Given the description of an element on the screen output the (x, y) to click on. 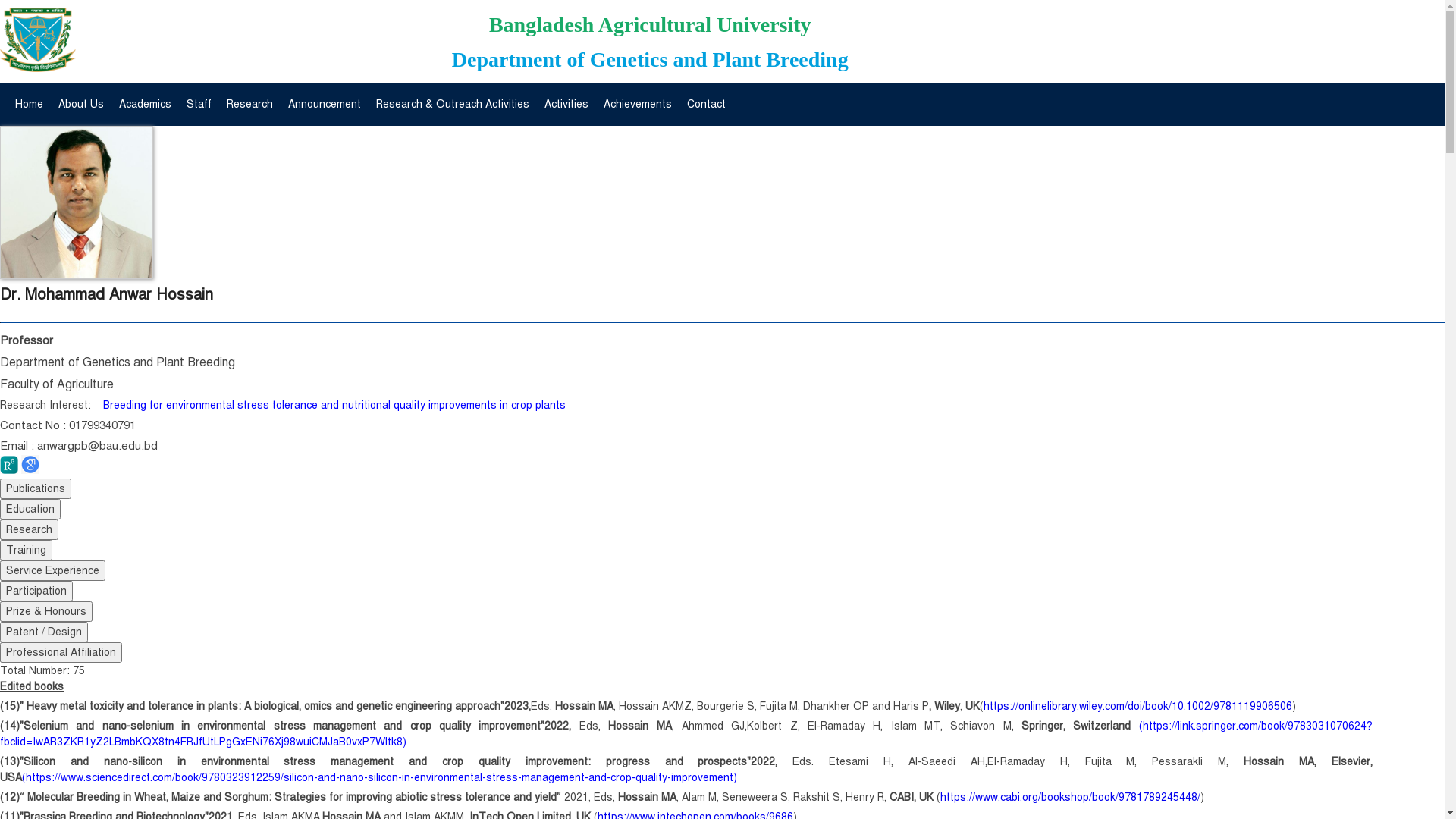
Publications Element type: text (35, 488)
Bangladesh Agricultural University Element type: text (649, 24)
Professional Affiliation Element type: text (61, 652)
https://www.cabi.org/bookshop/book/9781789245448/ Element type: text (1070, 796)
Research Element type: text (29, 529)
Staff Element type: text (198, 103)
Announcement Element type: text (324, 103)
Research Element type: text (249, 103)
Service Experience Element type: text (52, 570)
Home Element type: text (29, 103)
Achievements Element type: text (637, 103)
ResearchGate Element type: hover (10, 470)
About Us Element type: text (80, 103)
Academics Element type: text (144, 103)
Prize & Honours Element type: text (46, 611)
Google Scholar Element type: hover (30, 470)
Patent / Design Element type: text (43, 631)
Research & Outreach Activities Element type: text (452, 103)
Contact Element type: text (705, 103)
Education Element type: text (30, 508)
Participation Element type: text (36, 590)
Training Element type: text (26, 549)
Activities Element type: text (566, 103)
